Given the description of an element on the screen output the (x, y) to click on. 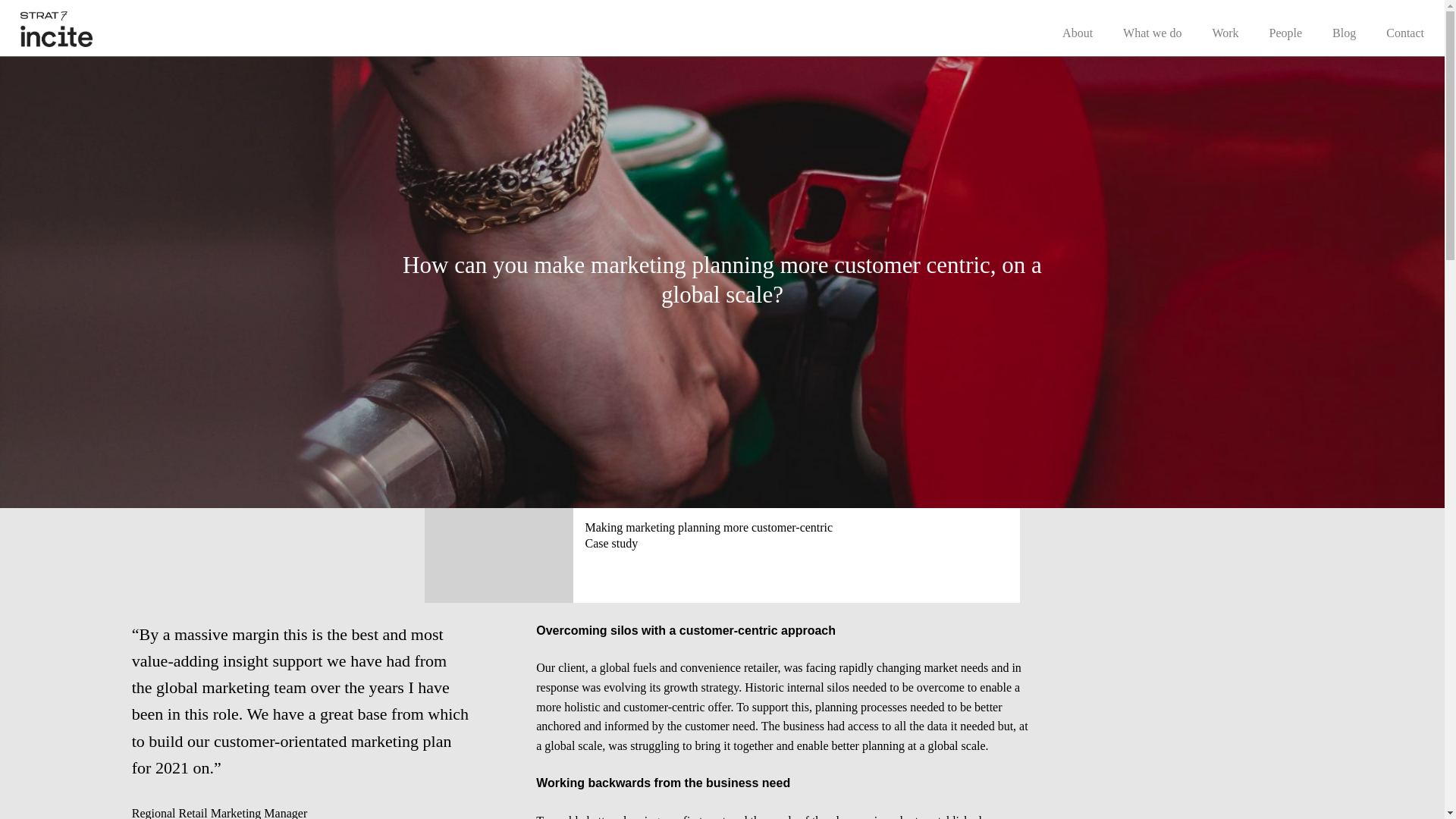
About (1077, 32)
Blog (1343, 32)
What we do (1151, 32)
Work (1225, 32)
People (1286, 32)
Contact (1404, 32)
